Given the description of an element on the screen output the (x, y) to click on. 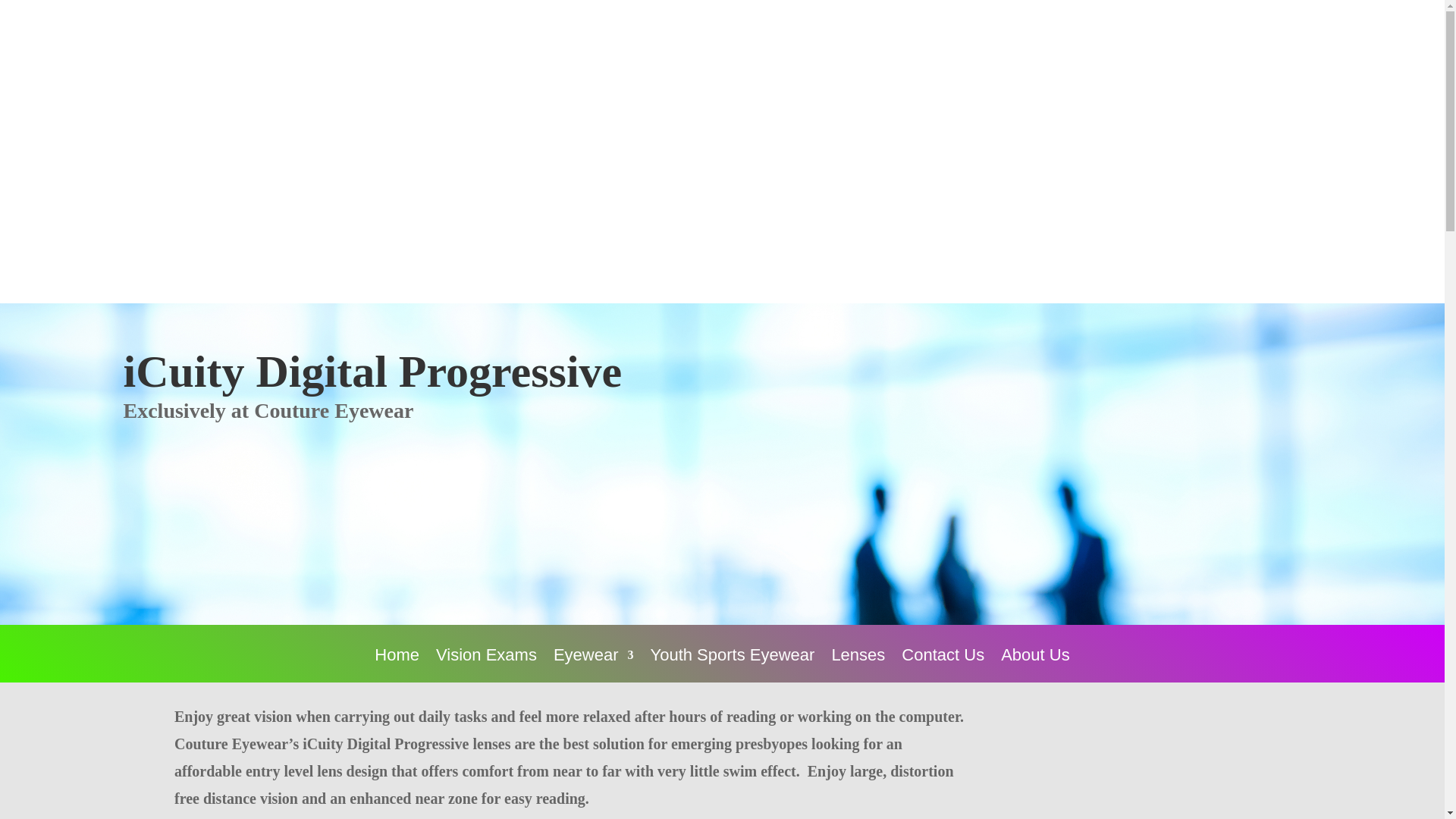
Contact Us (942, 666)
Vision Exams (486, 666)
Home (396, 666)
Youth Sports Eyewear (732, 666)
Eyewear (593, 666)
Lenses (858, 666)
About Us (1035, 666)
